Given the description of an element on the screen output the (x, y) to click on. 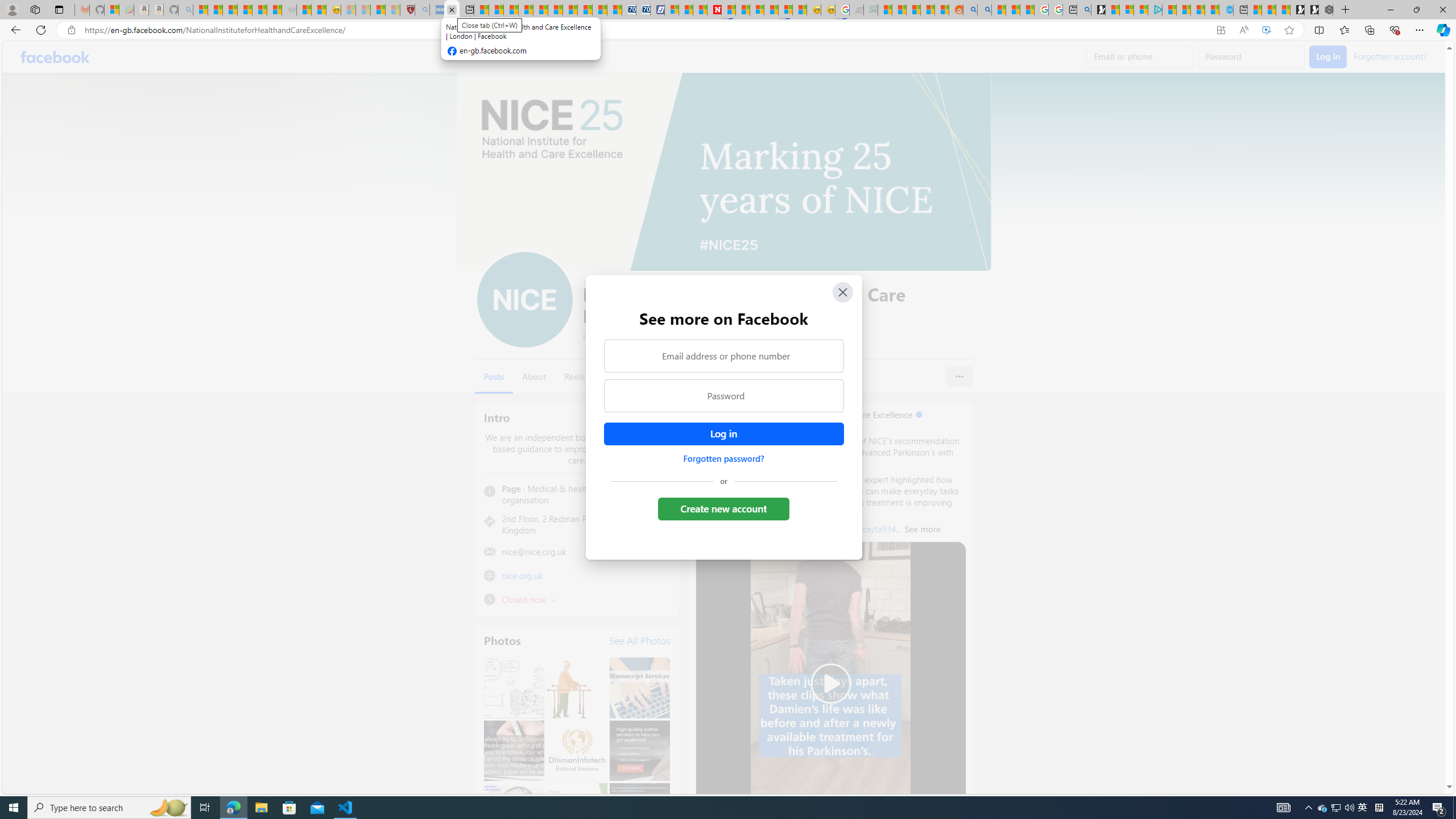
App available. Install Facebook (1220, 29)
Email or phone (1139, 56)
Accessible login button (723, 433)
New Report Confirms 2023 Was Record Hot | Watch (259, 9)
Newsweek - News, Analysis, Politics, Business, Technology (713, 9)
